Given the description of an element on the screen output the (x, y) to click on. 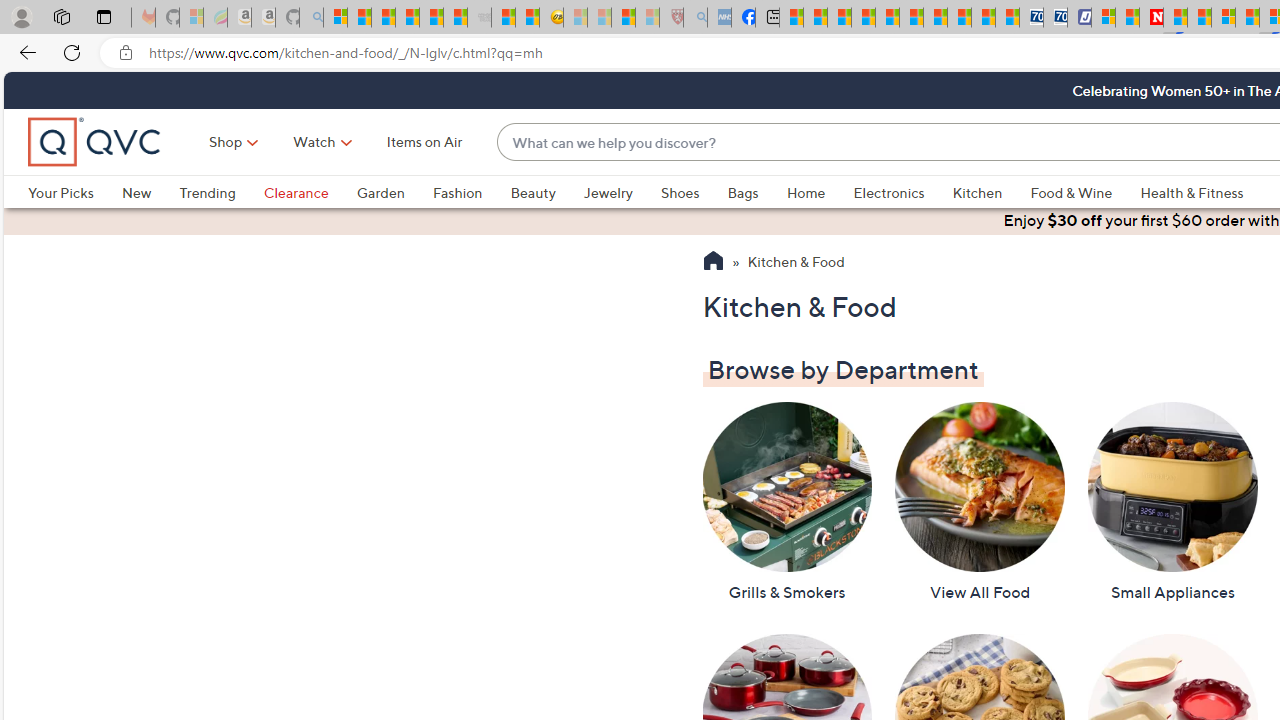
Food & Wine (1085, 192)
Small Appliances (1173, 502)
New (136, 192)
